Given the description of an element on the screen output the (x, y) to click on. 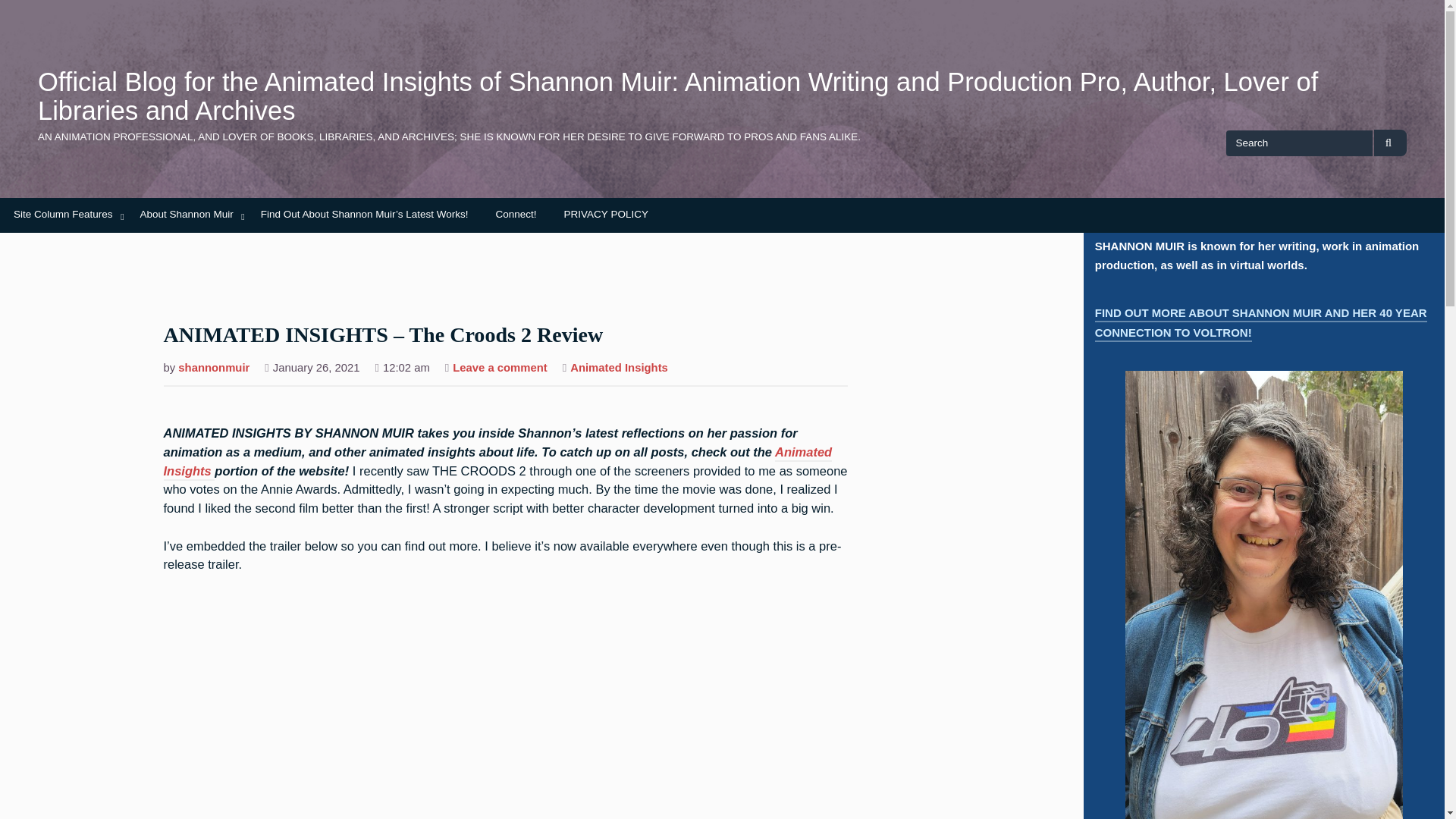
Search (1390, 142)
Animated Insights (497, 462)
Posts by shannonmuir (212, 368)
shannonmuir (212, 368)
Connect! (515, 214)
PRIVACY POLICY (606, 214)
Animated Insights (619, 368)
About Shannon Muir (186, 214)
